Given the description of an element on the screen output the (x, y) to click on. 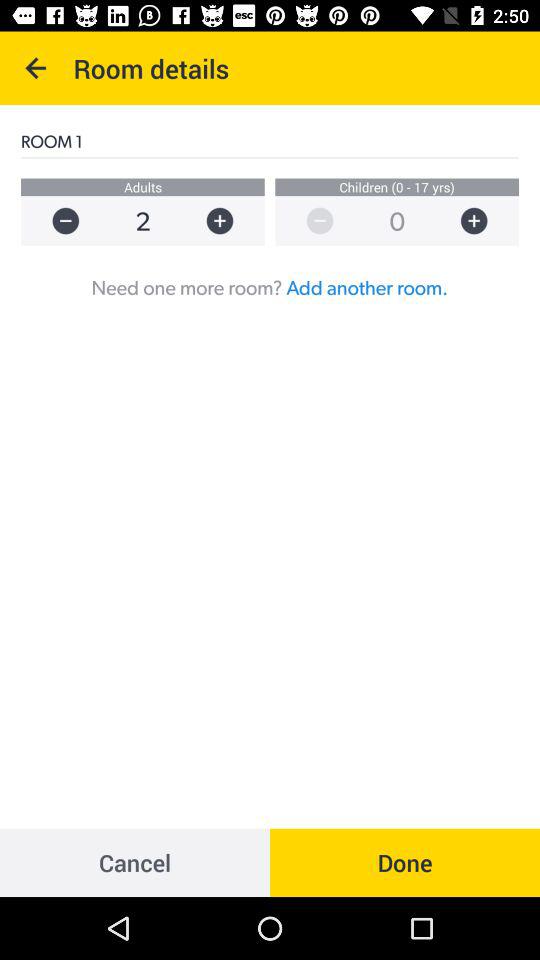
add children (484, 220)
